Given the description of an element on the screen output the (x, y) to click on. 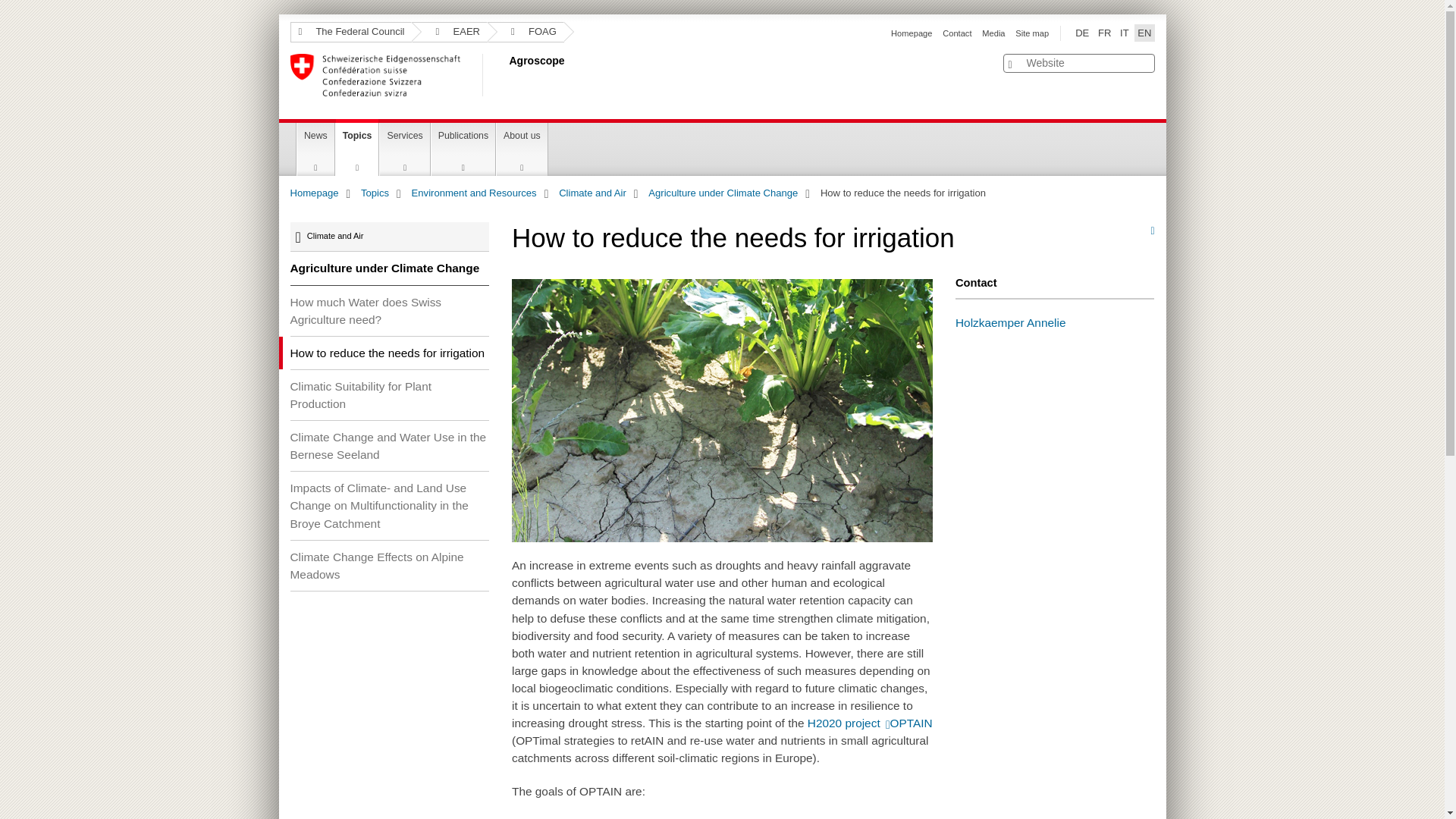
Homepage (911, 32)
EN (1144, 32)
FR (1103, 32)
Site map (1031, 32)
FOAG (525, 32)
Media (992, 32)
Contact (956, 32)
German (1081, 32)
Agroscope (505, 75)
EAER (449, 32)
The Federal Council (350, 32)
DE (1081, 32)
English selected (1144, 32)
French (1103, 32)
